Given the description of an element on the screen output the (x, y) to click on. 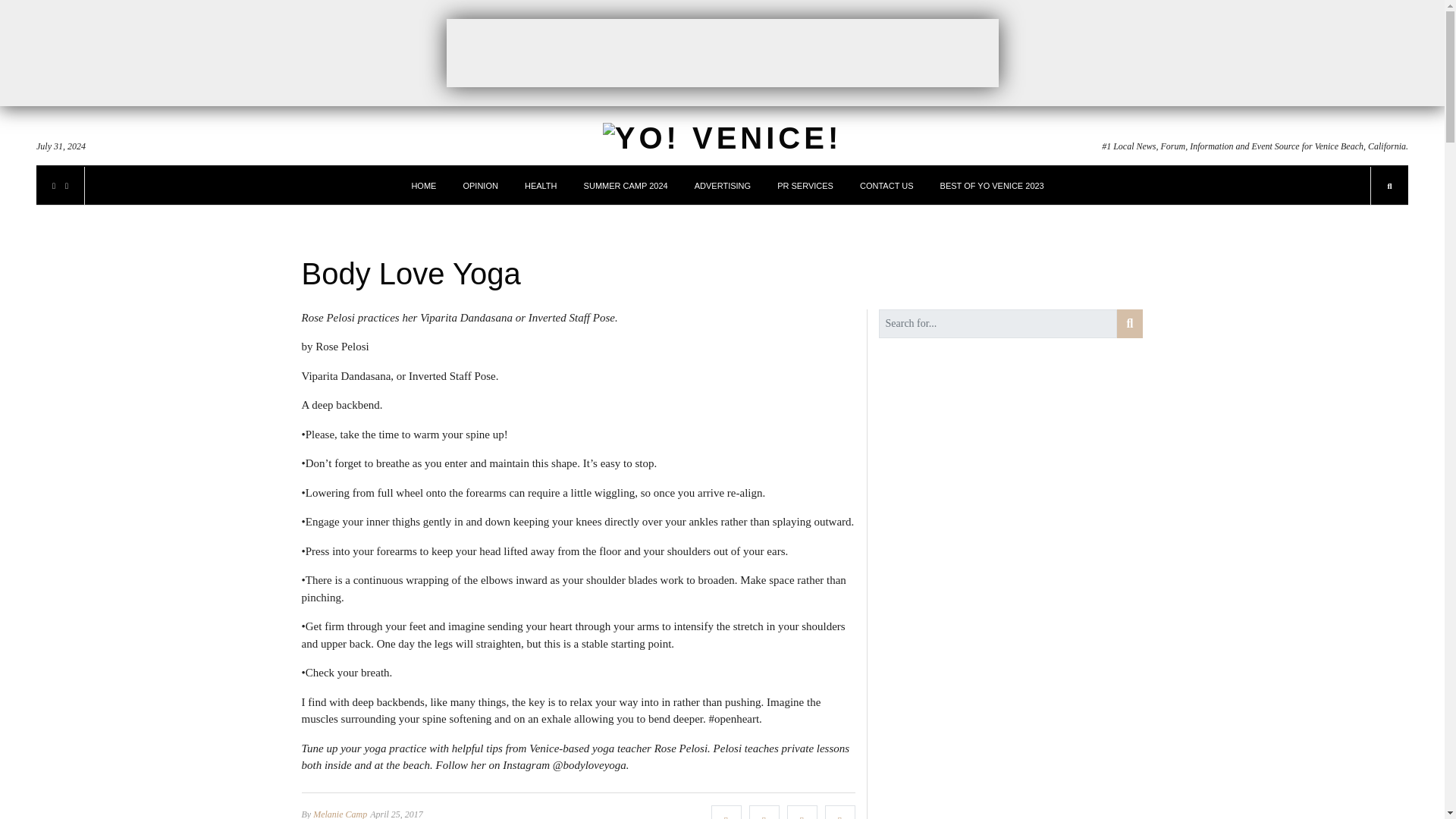
Posts by Melanie Camp (339, 813)
Melanie Camp (339, 813)
OPINION (480, 185)
ADVERTISING (722, 185)
PR SERVICES (804, 185)
3rd party ad content (721, 52)
SUMMER CAMP 2024 (625, 185)
BEST OF YO VENICE 2023 (991, 185)
CONTACT US (887, 185)
